Given the description of an element on the screen output the (x, y) to click on. 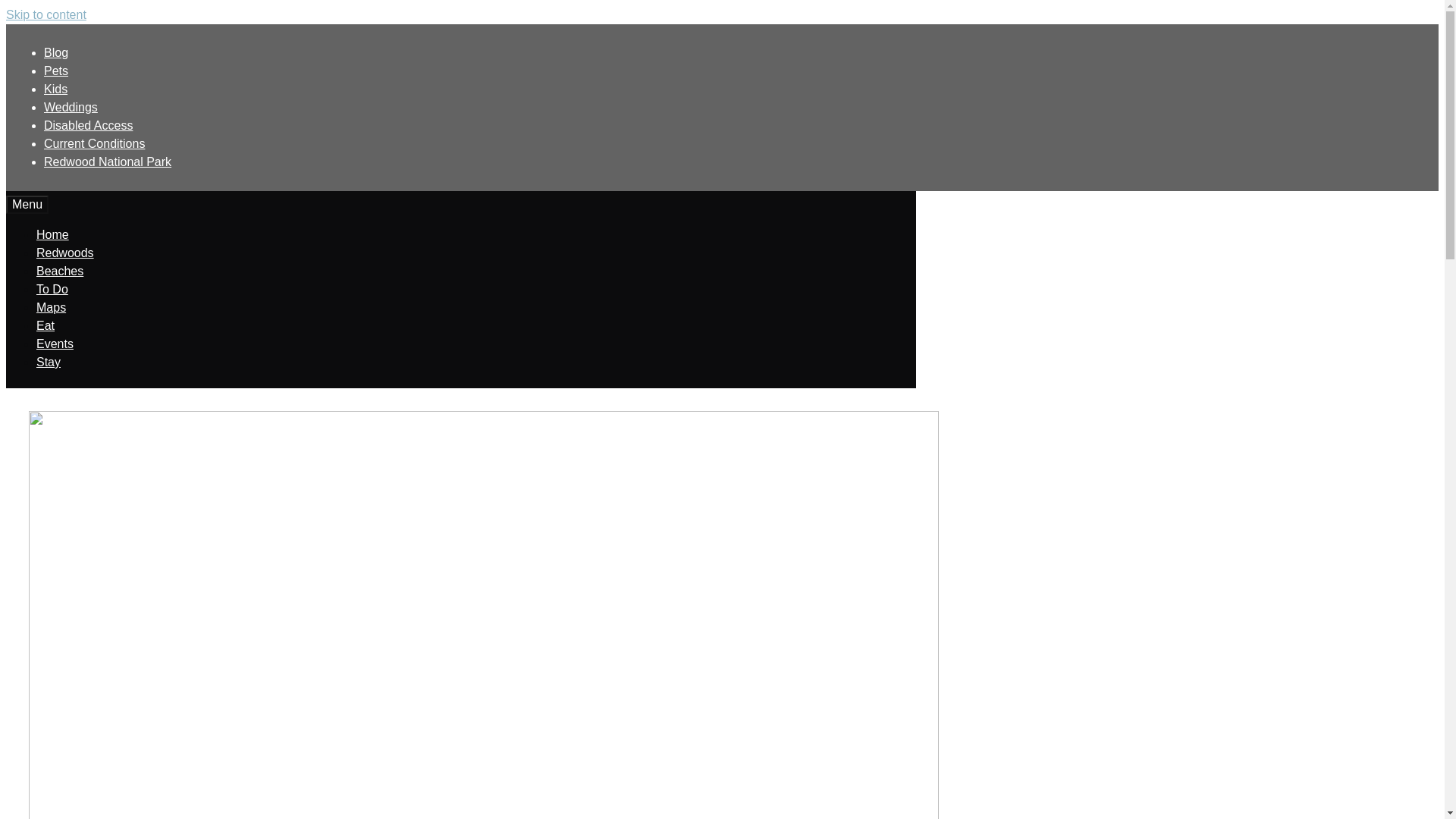
Kids (54, 88)
Pets (55, 70)
Skip to content (45, 14)
Home (52, 234)
Redwoods (65, 252)
Menu (26, 204)
Events (55, 343)
Beaches (59, 270)
Blog (55, 51)
Disabled Access (87, 124)
Redwood National Park (107, 161)
Stay (48, 361)
Skip to content (45, 14)
Eat (45, 325)
To Do (52, 288)
